Given the description of an element on the screen output the (x, y) to click on. 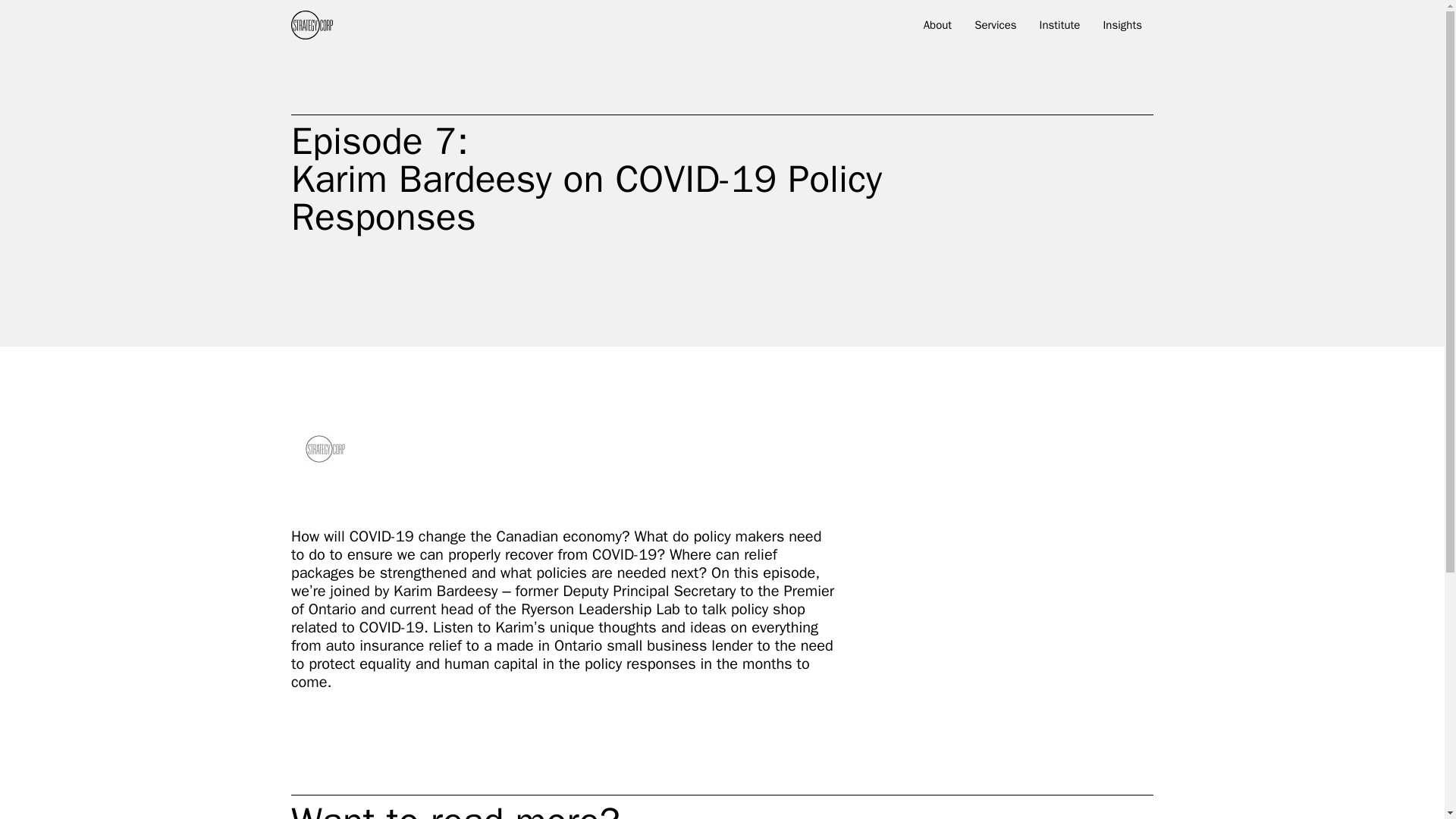
Insights (1121, 28)
Institute (1059, 28)
Services (994, 28)
Libsyn Player (564, 448)
About (937, 28)
